Given the description of an element on the screen output the (x, y) to click on. 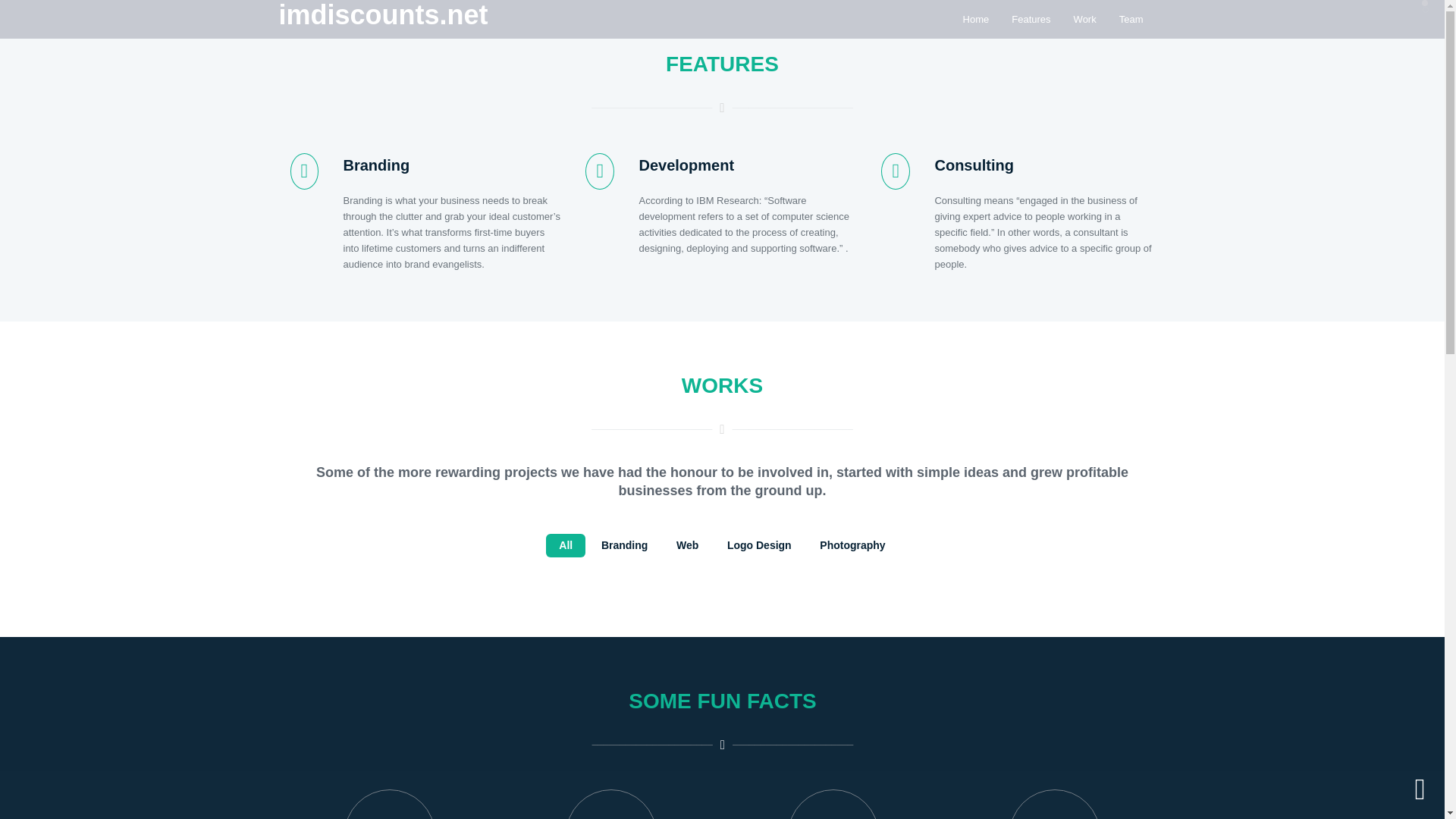
Web (692, 545)
Team (1131, 19)
imdiscounts.net (383, 18)
Work (1085, 19)
Logo Design (762, 545)
Home (976, 19)
Branding (628, 545)
All (571, 545)
Features (1030, 19)
Photography (855, 545)
